Given the description of an element on the screen output the (x, y) to click on. 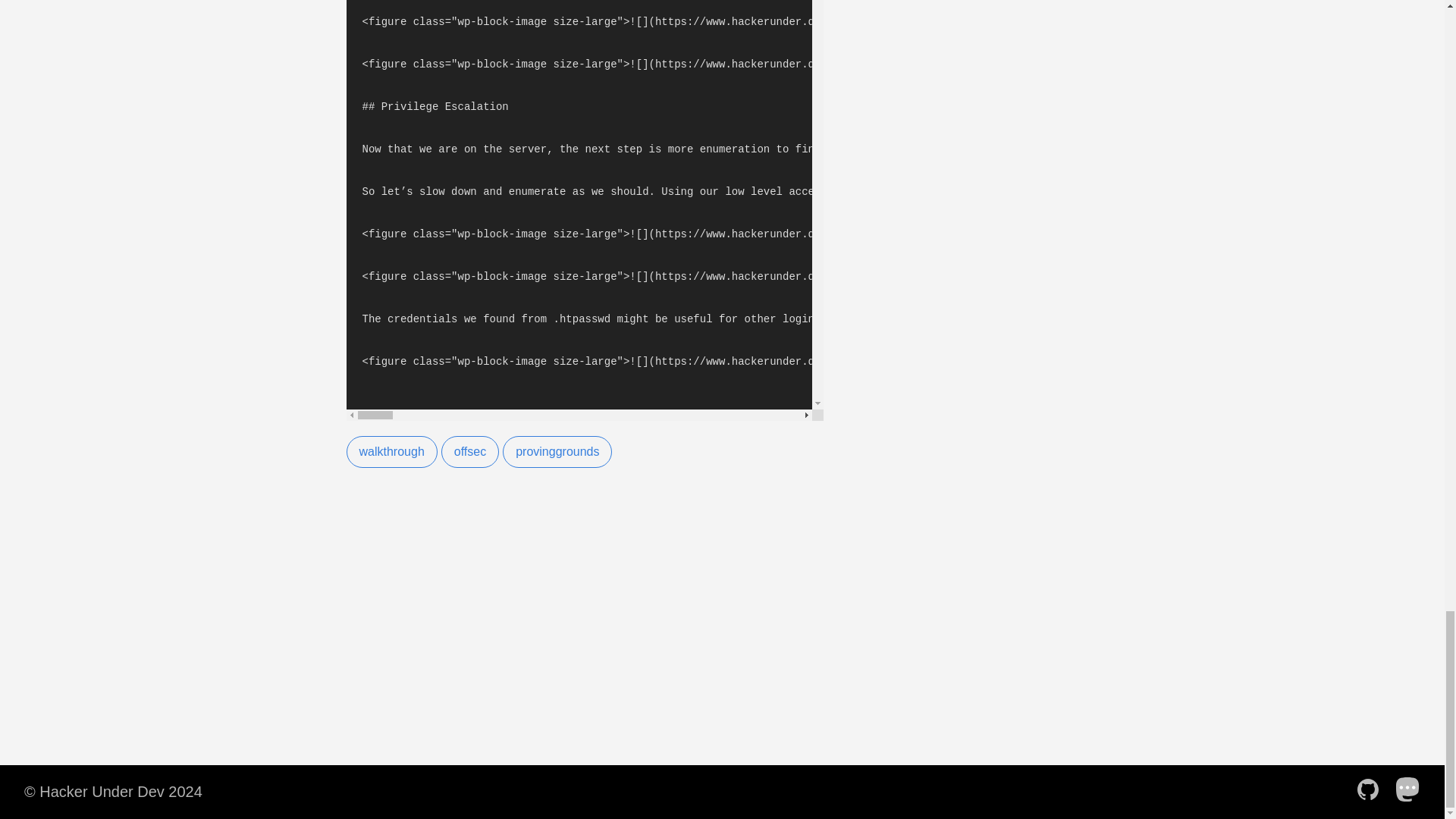
GitHub link (1372, 790)
walkthrough (391, 451)
Mastodon link (1412, 790)
offsec (470, 451)
provinggrounds (556, 451)
